Given the description of an element on the screen output the (x, y) to click on. 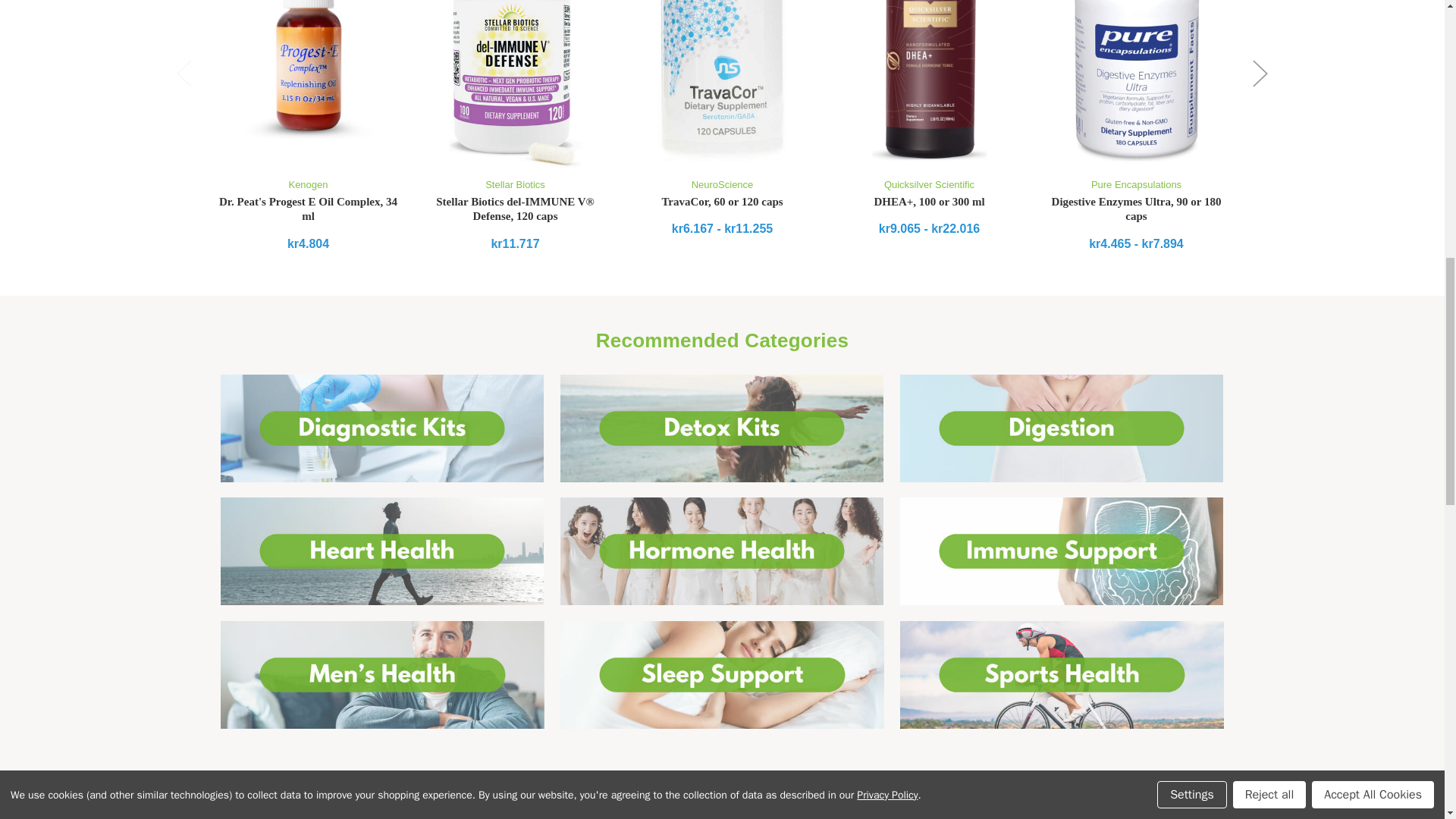
Kenogen Dr. Peat's Progest E Oil Complex, 34 ml   (307, 69)
NeuroScience TravaCor, 60 or 120 caps  (721, 84)
Pure Encapsulations Digestive Enzymes Ultra, 90 or 180 caps  (1136, 84)
